Given the description of an element on the screen output the (x, y) to click on. 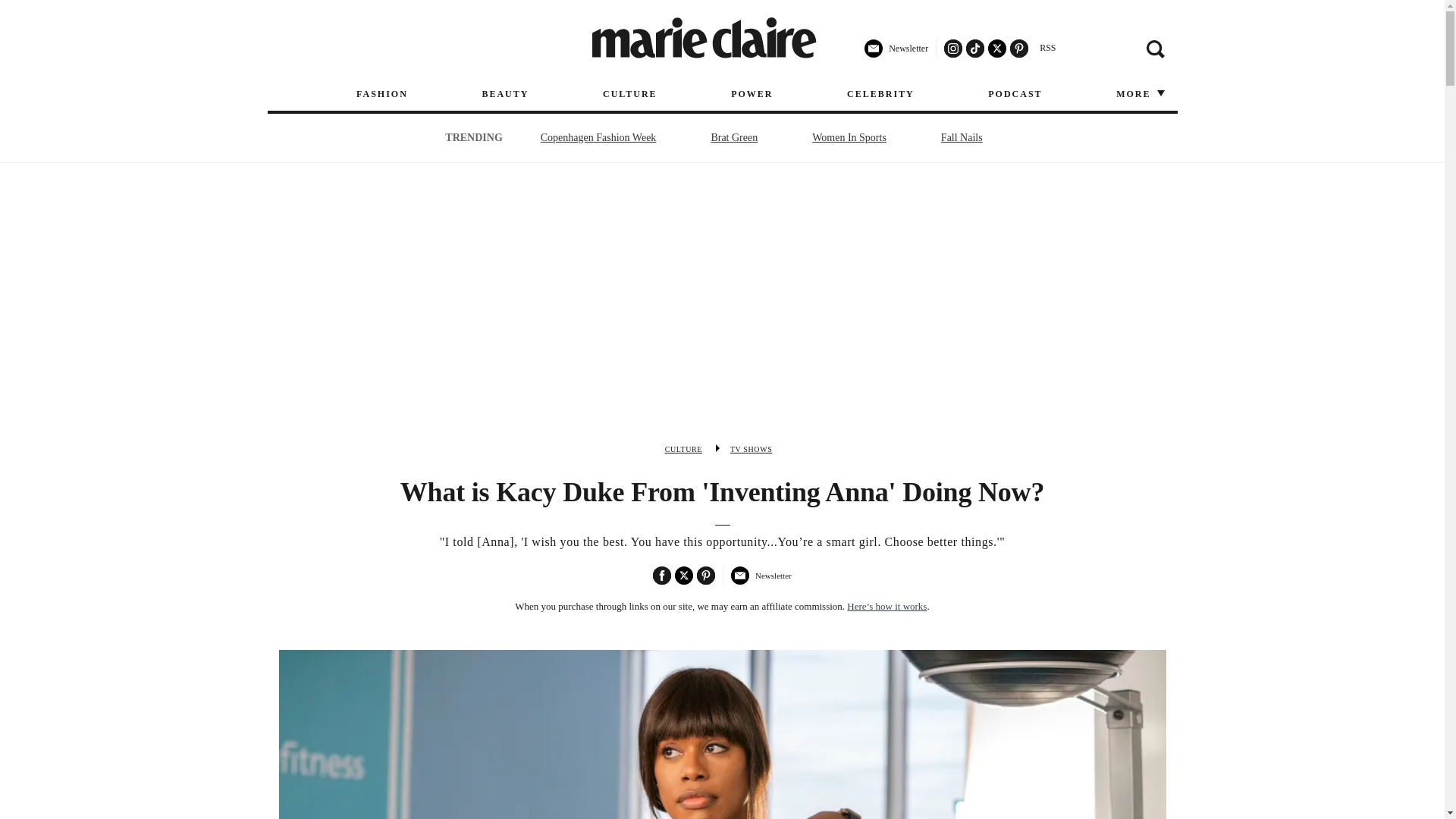
POWER (751, 94)
BEAUTY (504, 94)
CELEBRITY (880, 94)
Fall Nails (962, 137)
Copenhagen Fashion Week (598, 137)
PODCAST (1015, 94)
FASHION (381, 94)
Brat Green (733, 137)
Women In Sports (848, 137)
Newsletter (896, 53)
